Given the description of an element on the screen output the (x, y) to click on. 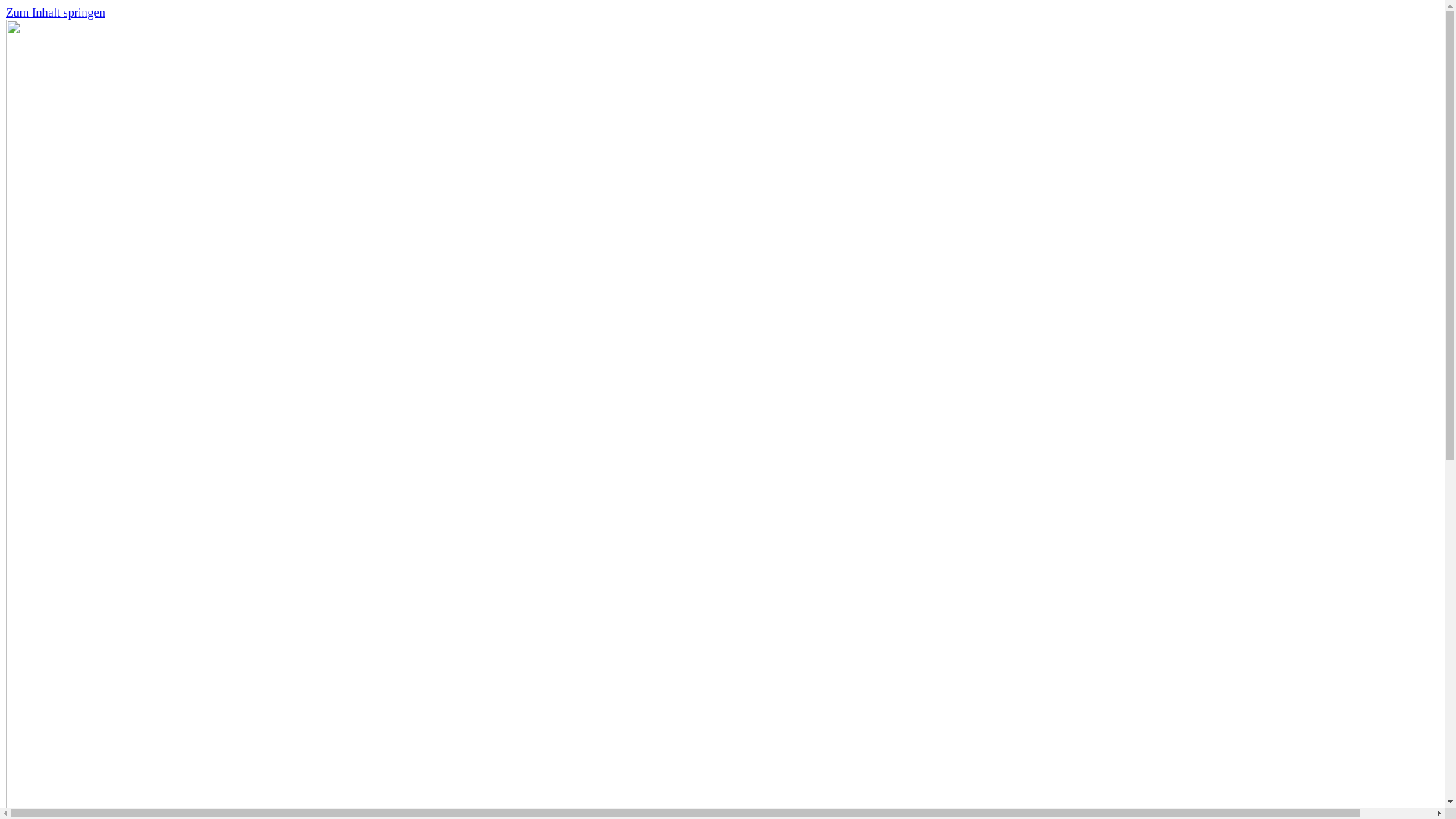
Zum Inhalt springen Element type: text (55, 12)
